Given the description of an element on the screen output the (x, y) to click on. 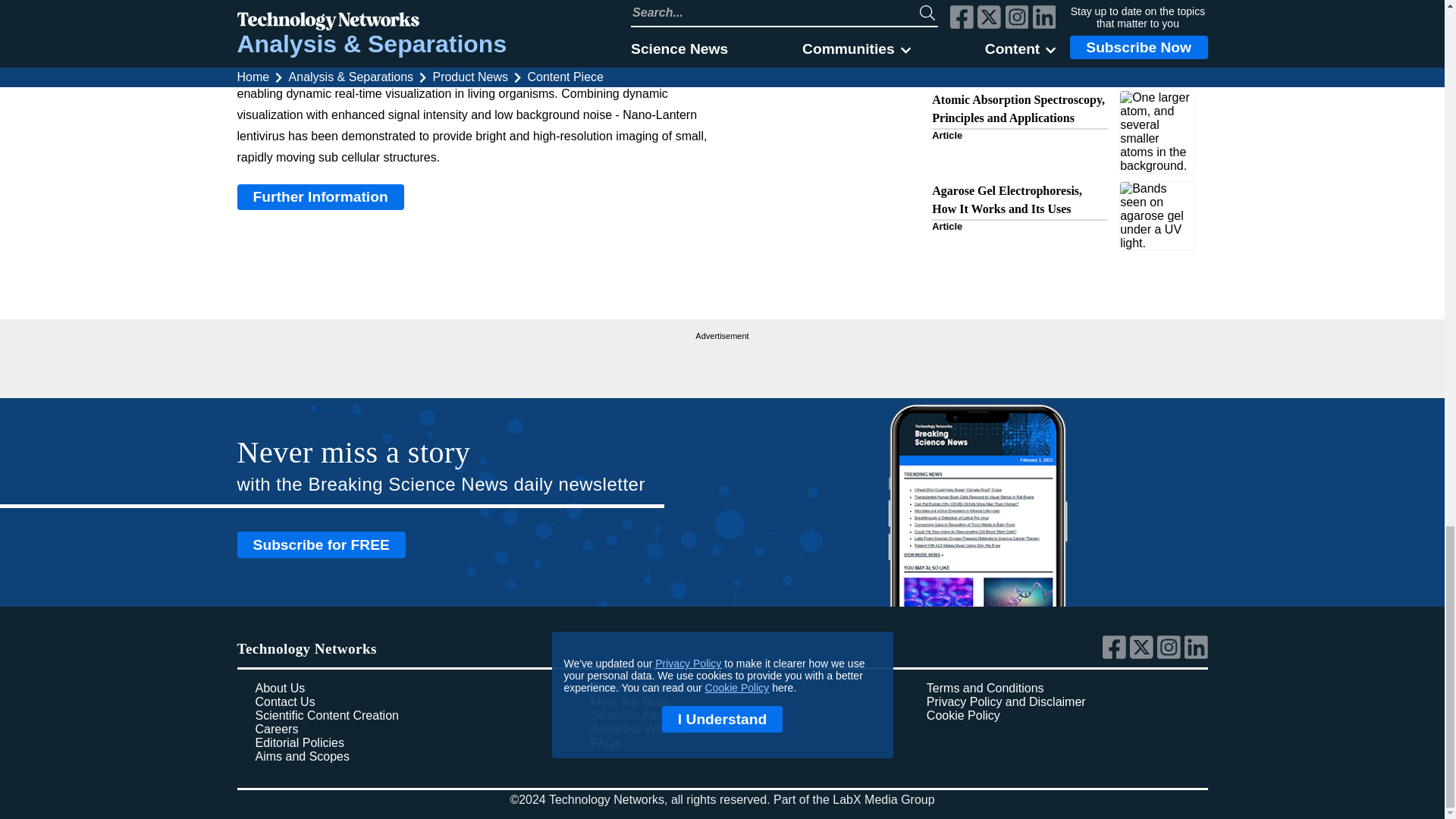
3rd party ad content (721, 362)
Link to Technology Networks' twitter page (1143, 655)
Link to Technology Networks' facebook page (1115, 655)
Link to Technology Networks' instagram page (1171, 655)
Link to Technology Networks' linkedin page (1196, 655)
